Given the description of an element on the screen output the (x, y) to click on. 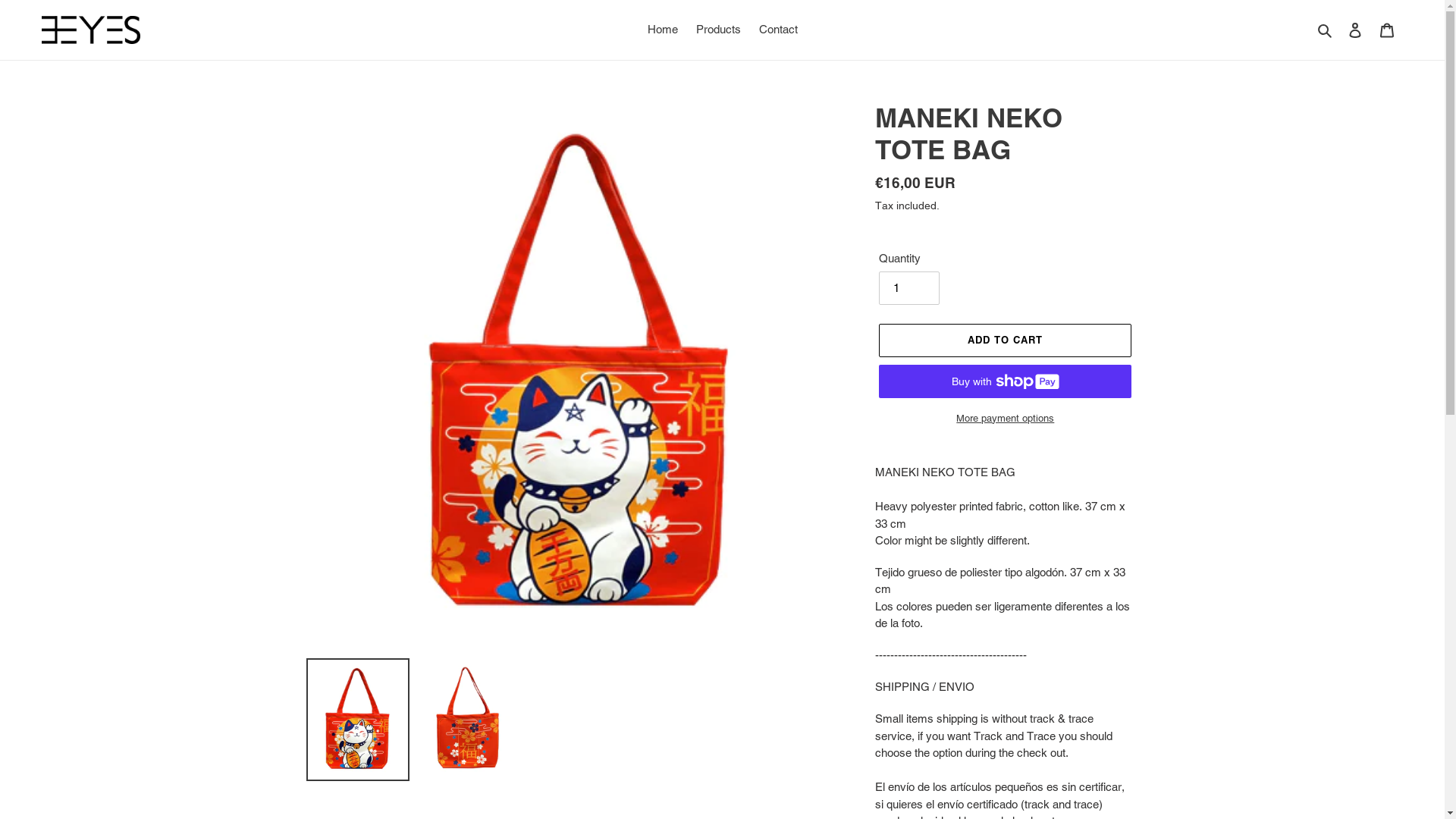
Home Element type: text (662, 29)
Log in Element type: text (1355, 29)
ADD TO CART Element type: text (1004, 340)
Contact Element type: text (777, 29)
Cart Element type: text (1386, 29)
Search Element type: text (1325, 29)
More payment options Element type: text (1004, 418)
Products Element type: text (718, 29)
